Given the description of an element on the screen output the (x, y) to click on. 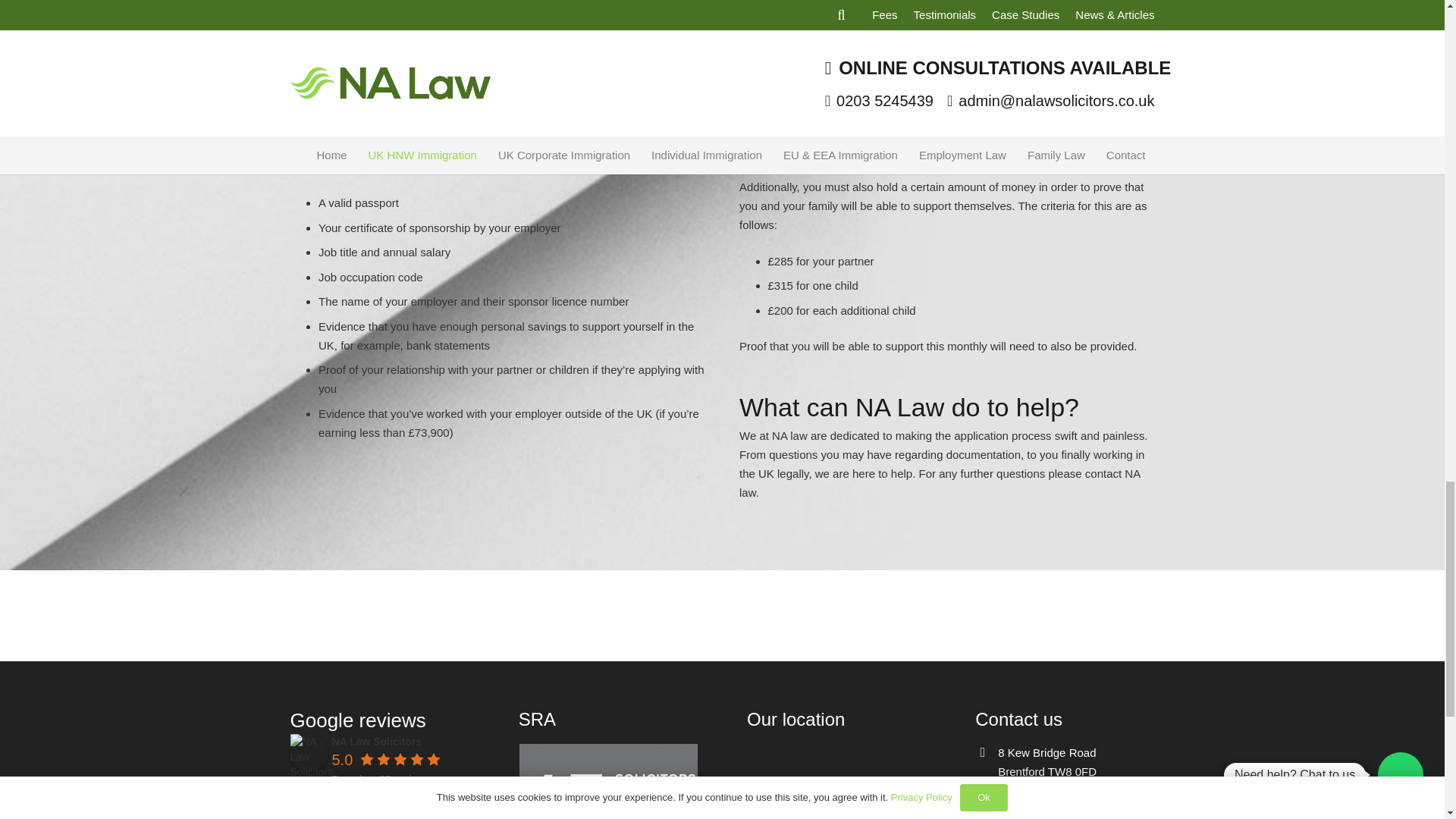
NA Law Solicitors (308, 752)
powered by Google (386, 798)
